Given the description of an element on the screen output the (x, y) to click on. 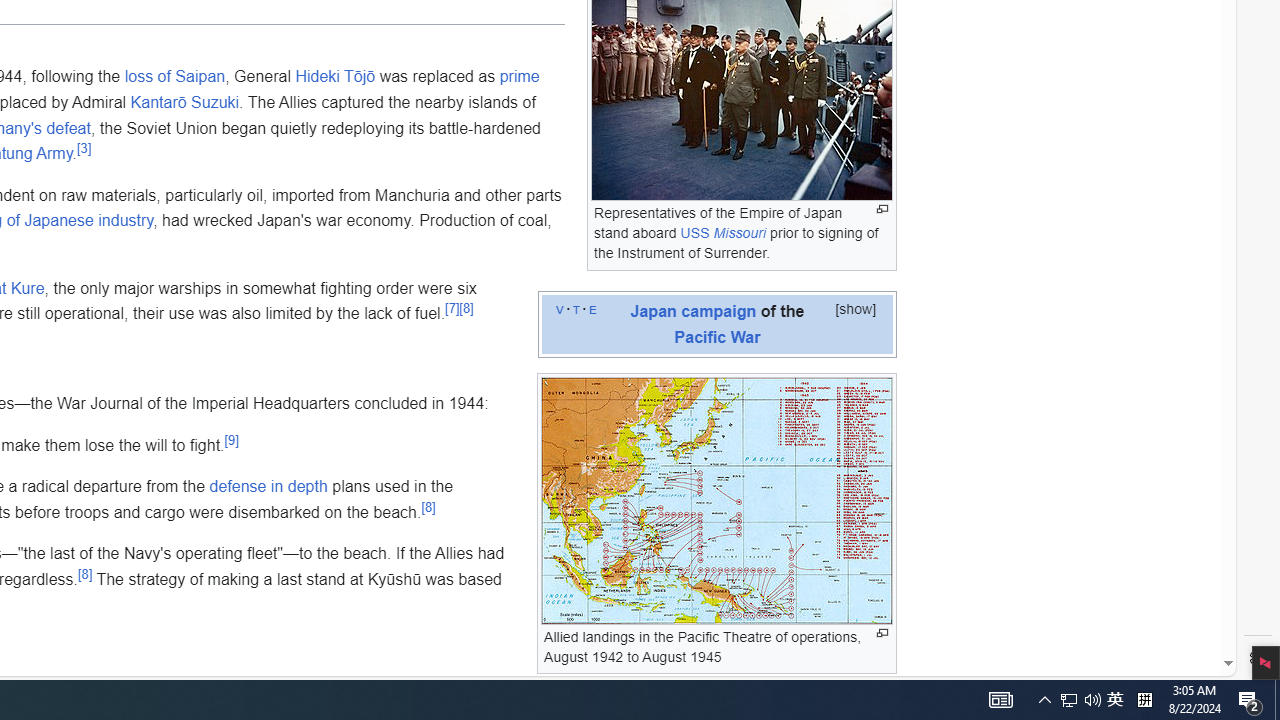
[9] (231, 439)
[8] (85, 573)
e (591, 308)
v (559, 308)
Pacific War (717, 336)
[show] (855, 308)
[3] (83, 147)
defense in depth (267, 487)
t (575, 308)
